Given the description of an element on the screen output the (x, y) to click on. 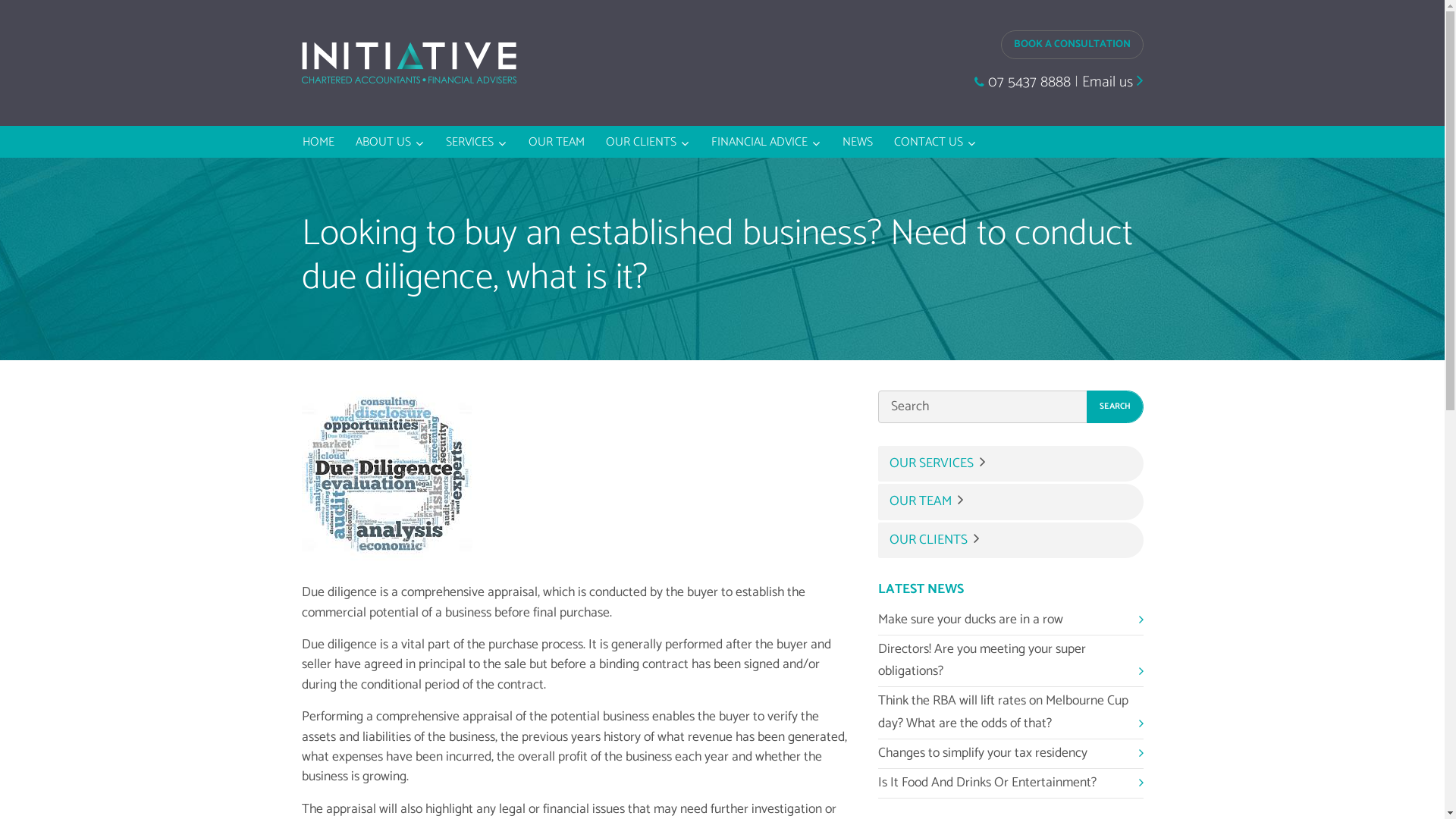
SERVICES Element type: text (476, 141)
Make sure your ducks are in a row Element type: text (1010, 620)
BOOK A CONSULTATION Element type: text (1072, 44)
Directors! Are you meeting your super obligations? Element type: text (1010, 661)
CONTACT US Element type: text (935, 141)
HOME Element type: text (318, 141)
OUR TEAM Element type: text (1010, 501)
Is It Food And Drinks Or Entertainment? Element type: text (1010, 783)
OUR TEAM Element type: text (556, 141)
Search Element type: text (1113, 406)
07 5437 8888 Element type: text (1021, 81)
ABOUT US Element type: text (390, 141)
OUR CLIENTS Element type: text (647, 141)
FINANCIAL ADVICE Element type: text (765, 141)
Email us Element type: text (1111, 81)
OUR CLIENTS Element type: text (1010, 540)
Changes to simplify your tax residency Element type: text (1010, 753)
NEWS Element type: text (857, 141)
OUR SERVICES Element type: text (1010, 463)
